Given the description of an element on the screen output the (x, y) to click on. 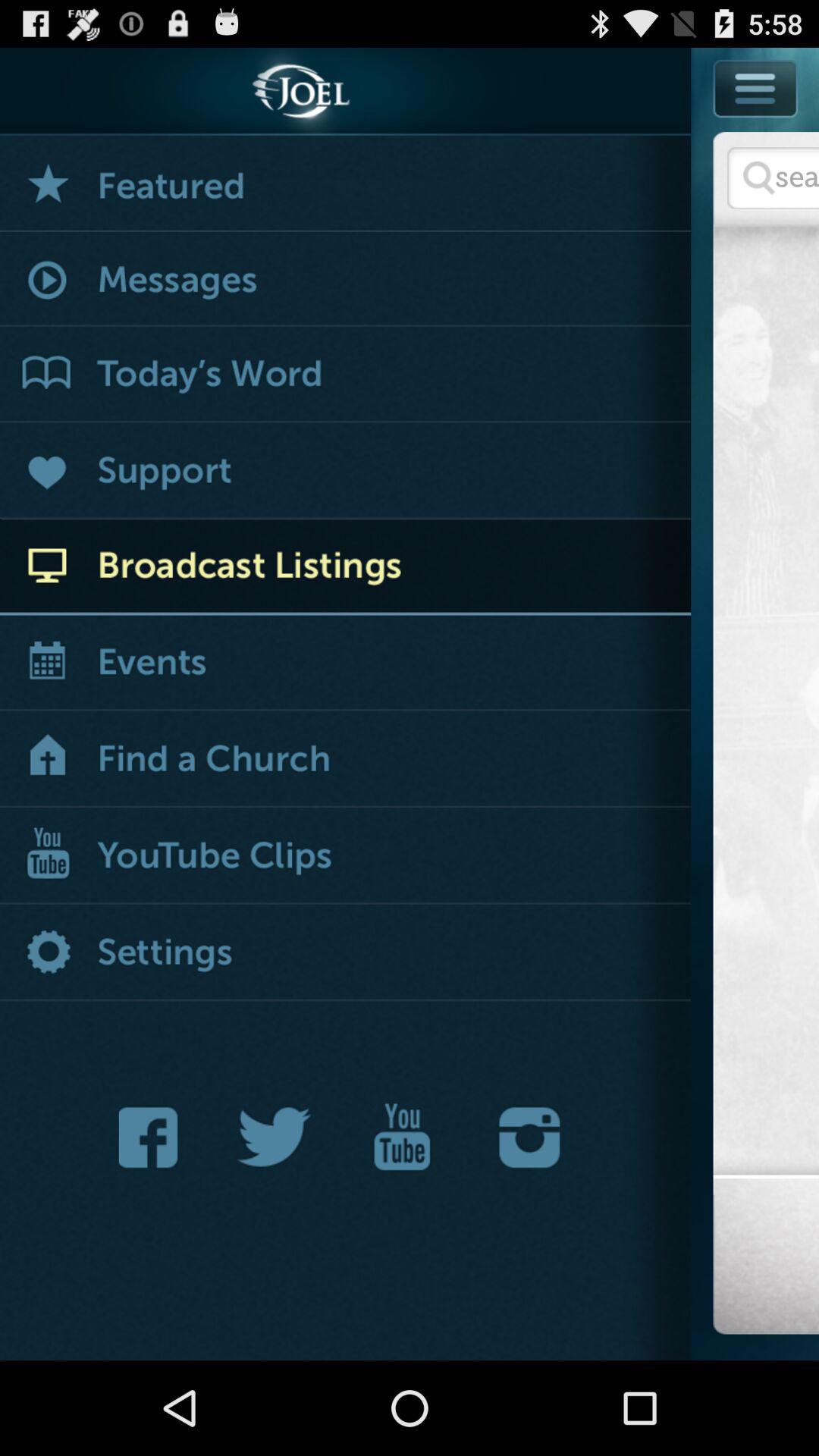
open menu (345, 760)
